Given the description of an element on the screen output the (x, y) to click on. 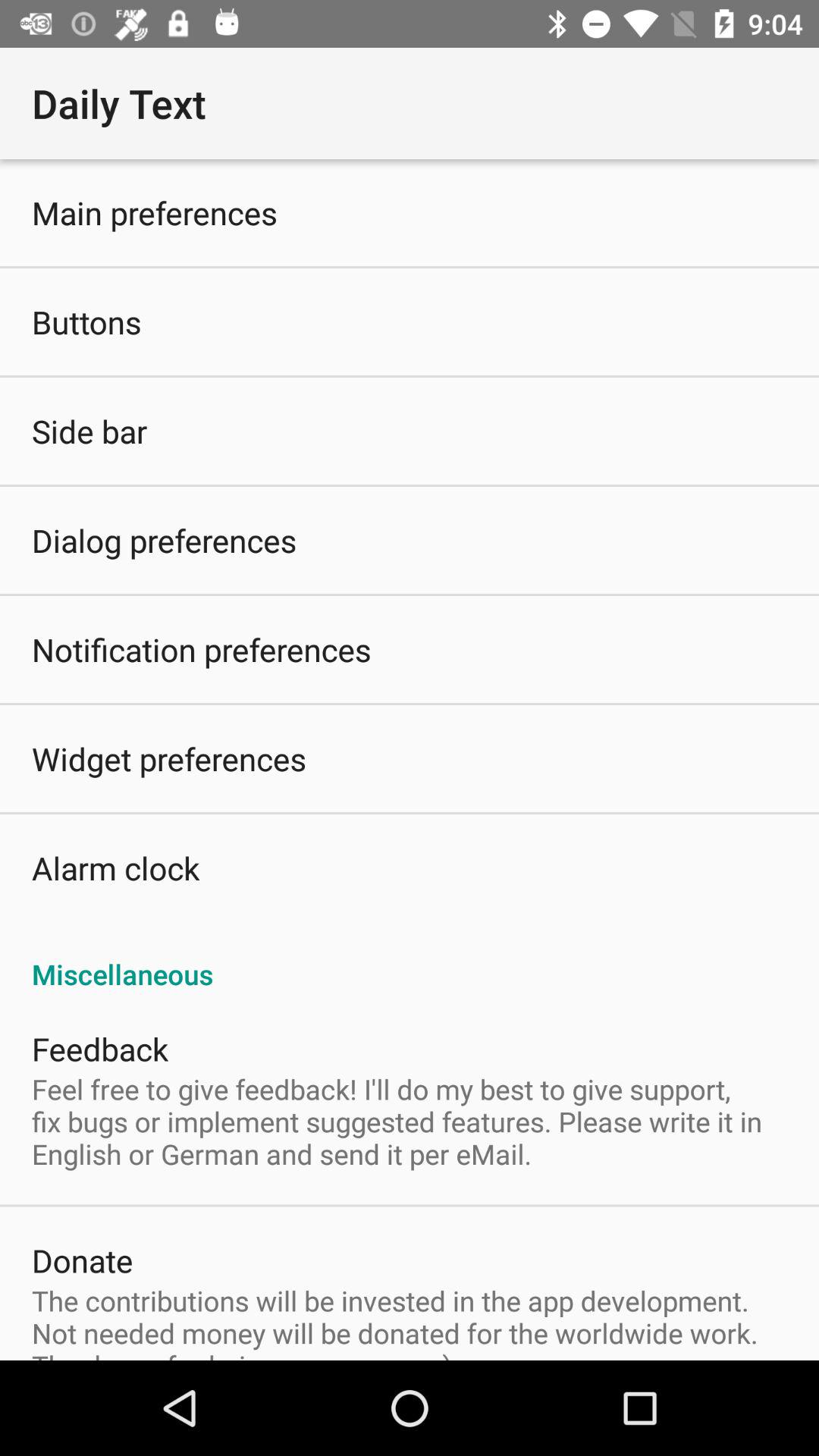
scroll to feel free to app (409, 1121)
